Given the description of an element on the screen output the (x, y) to click on. 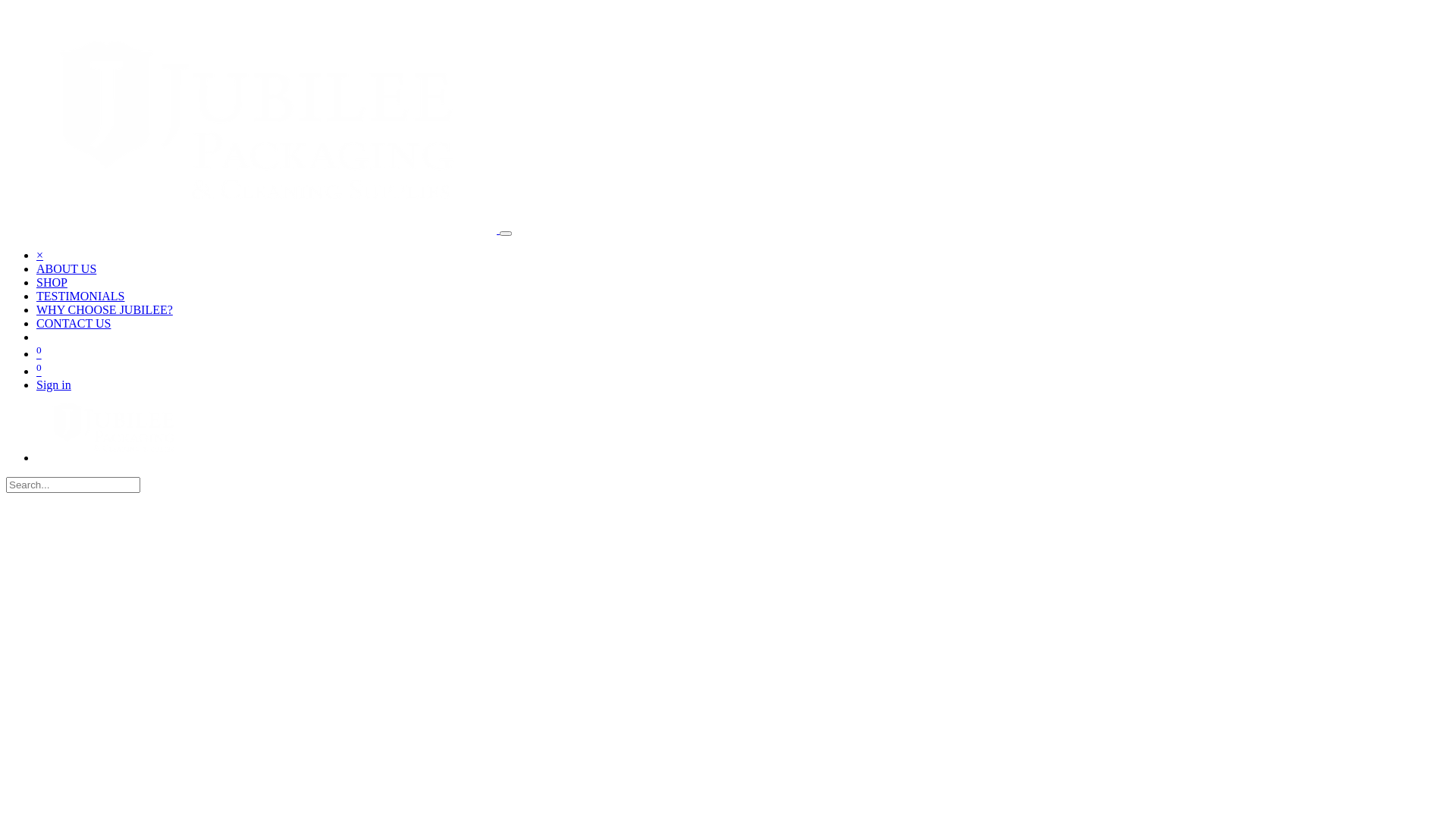
TESTIMONIALS Element type: text (80, 295)
ABOUT US Element type: text (66, 268)
0 Element type: text (38, 370)
Jubilee Packaging & Cleaning Supplies Element type: hover (112, 457)
WHY CHOOSE JUBILEE? Element type: text (104, 309)
Jubilee Packaging & Cleaning Supplies Element type: hover (251, 228)
Sign in Element type: text (53, 384)
SHOP Element type: text (51, 282)
CONTACT US Element type: text (73, 322)
0 Element type: text (38, 353)
